Given the description of an element on the screen output the (x, y) to click on. 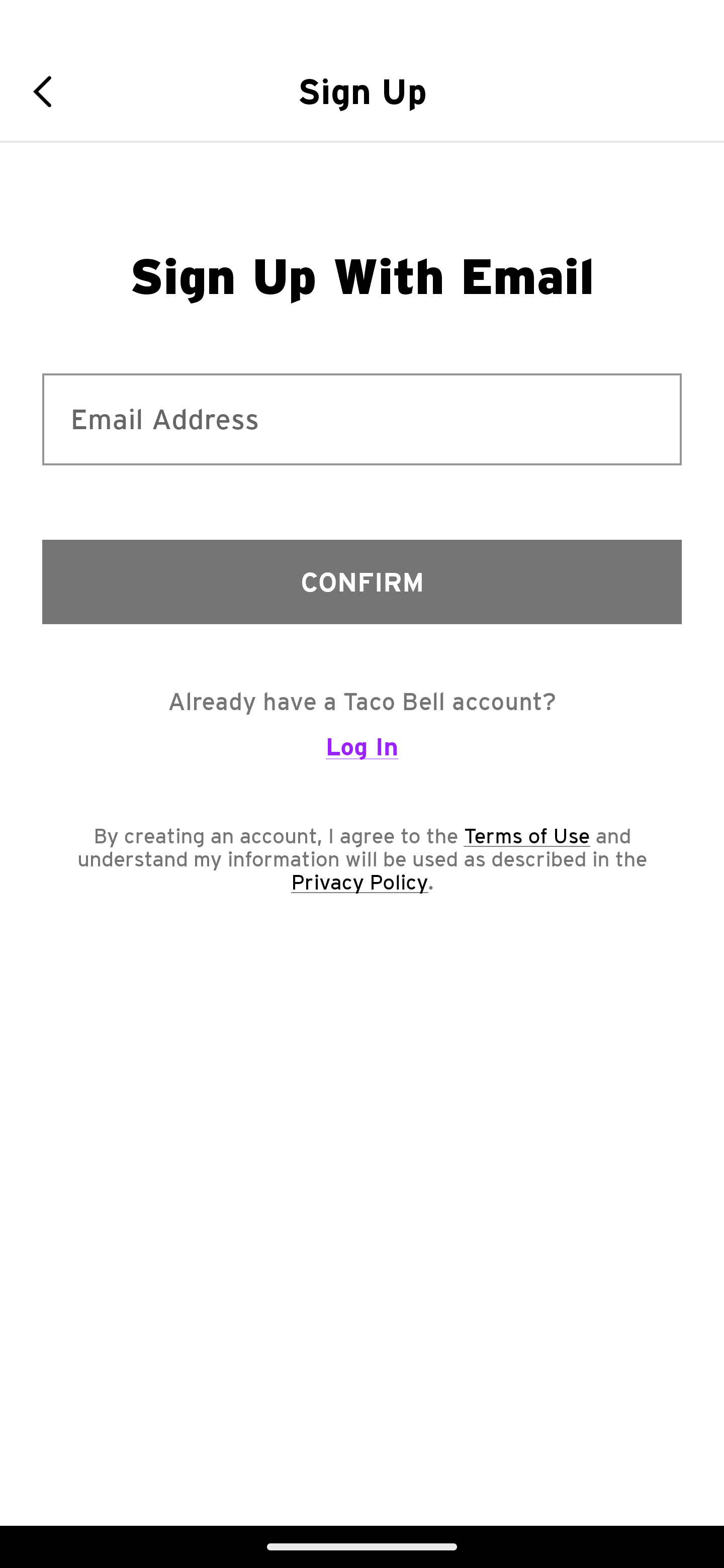
Navigate up (49, 91)
Email Address (361, 419)
CONFIRM (361, 581)
Log In (361, 754)
